Given the description of an element on the screen output the (x, y) to click on. 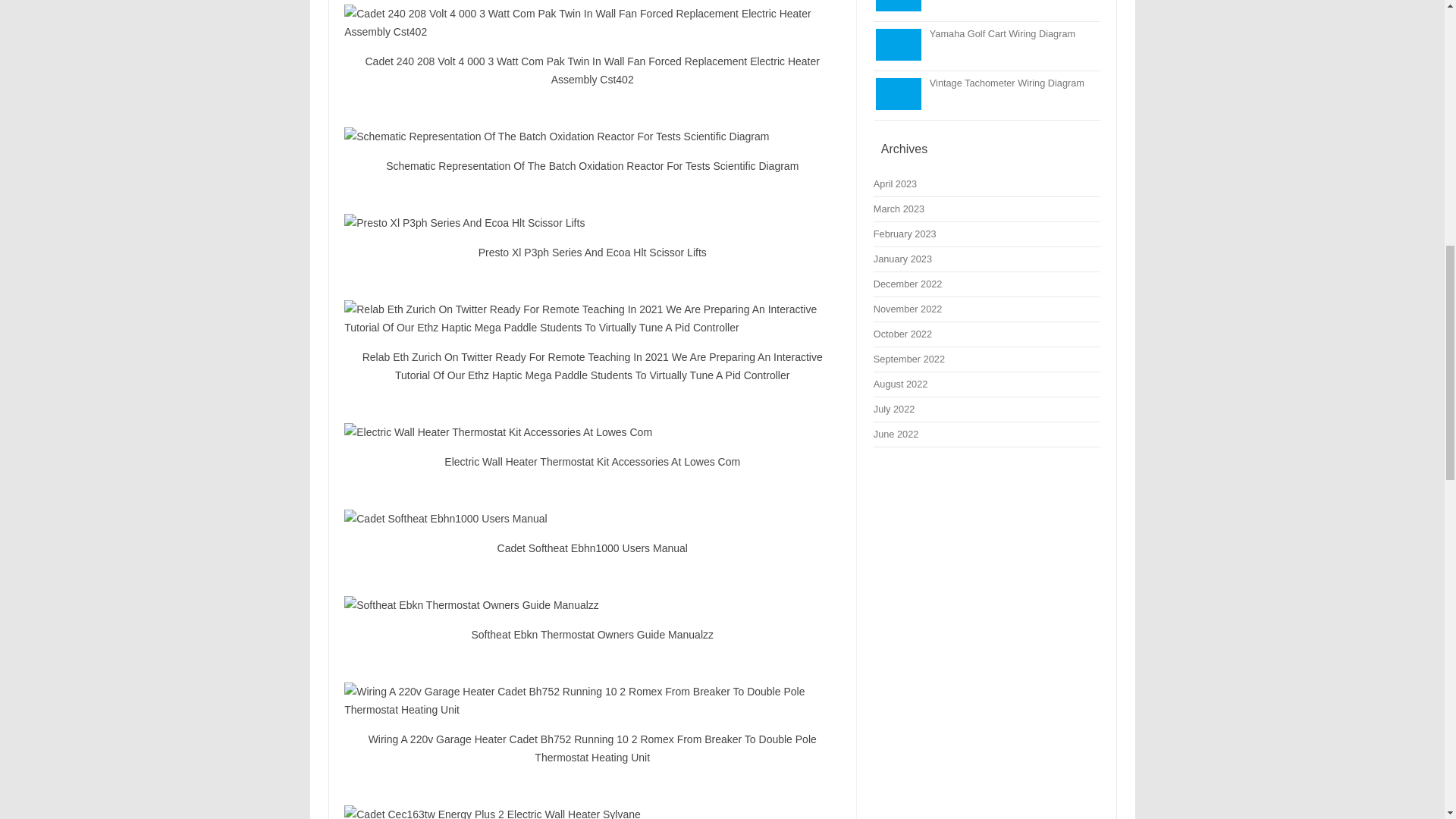
Yamaha Golf Cart Wiring Diagram (1002, 33)
March 2023 (898, 208)
February 2023 (904, 233)
Softheat Ebkn Thermostat Owners Guide Manualzz (591, 605)
November 2022 (907, 308)
Cadet Softheat Ebhn1000 Users Manual (591, 518)
December 2022 (907, 283)
September 2022 (908, 358)
April 2023 (895, 183)
January 2023 (902, 258)
October 2022 (902, 333)
Cadet Cec163tw Energy Plus 2 Electric Wall Heater Sylvane (591, 812)
